Given the description of an element on the screen output the (x, y) to click on. 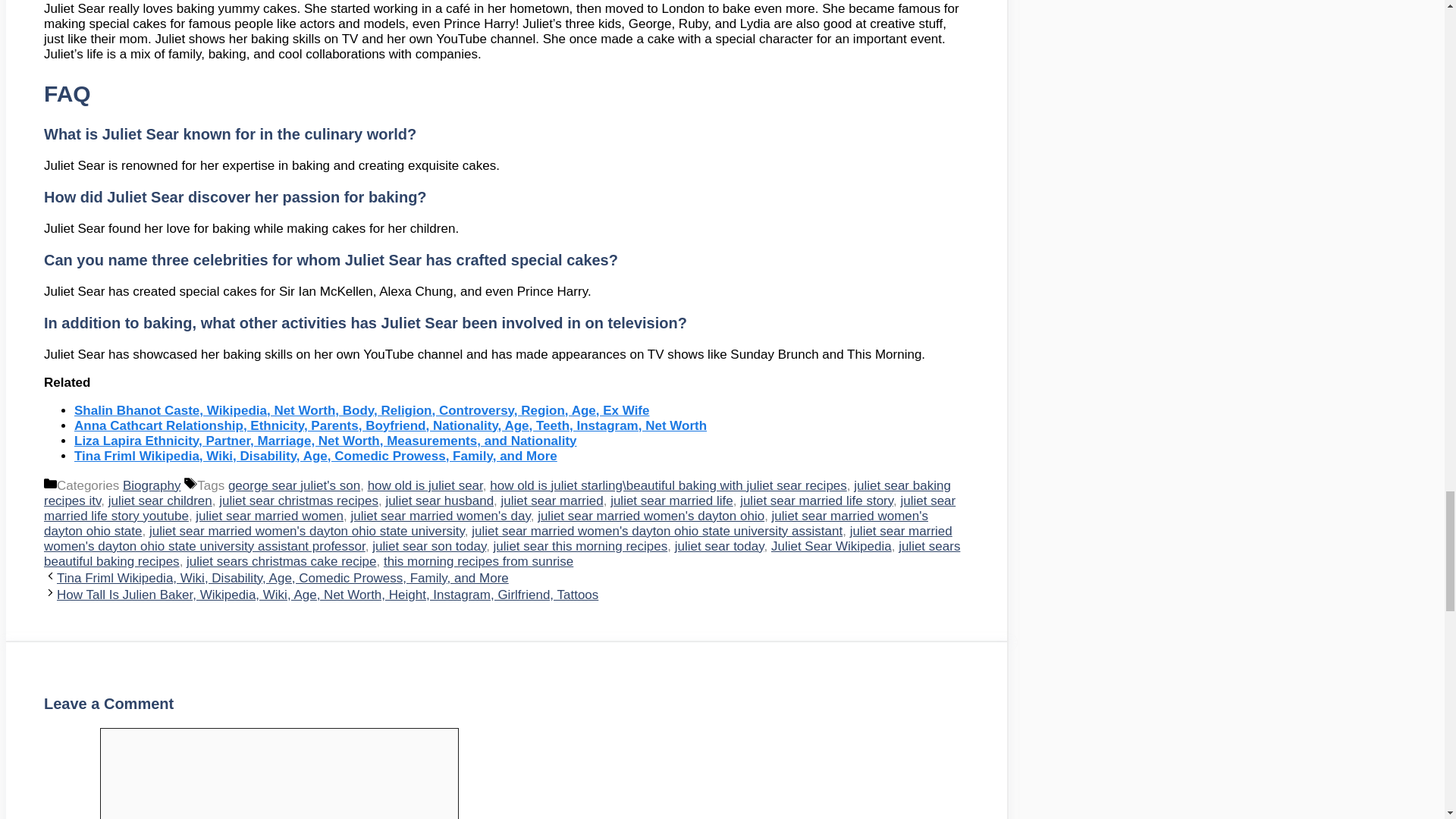
juliet sear baking recipes itv (496, 492)
Biography (151, 485)
how old is juliet sear (425, 485)
juliet sear children (159, 500)
george sear juliet's son (293, 485)
